Given the description of an element on the screen output the (x, y) to click on. 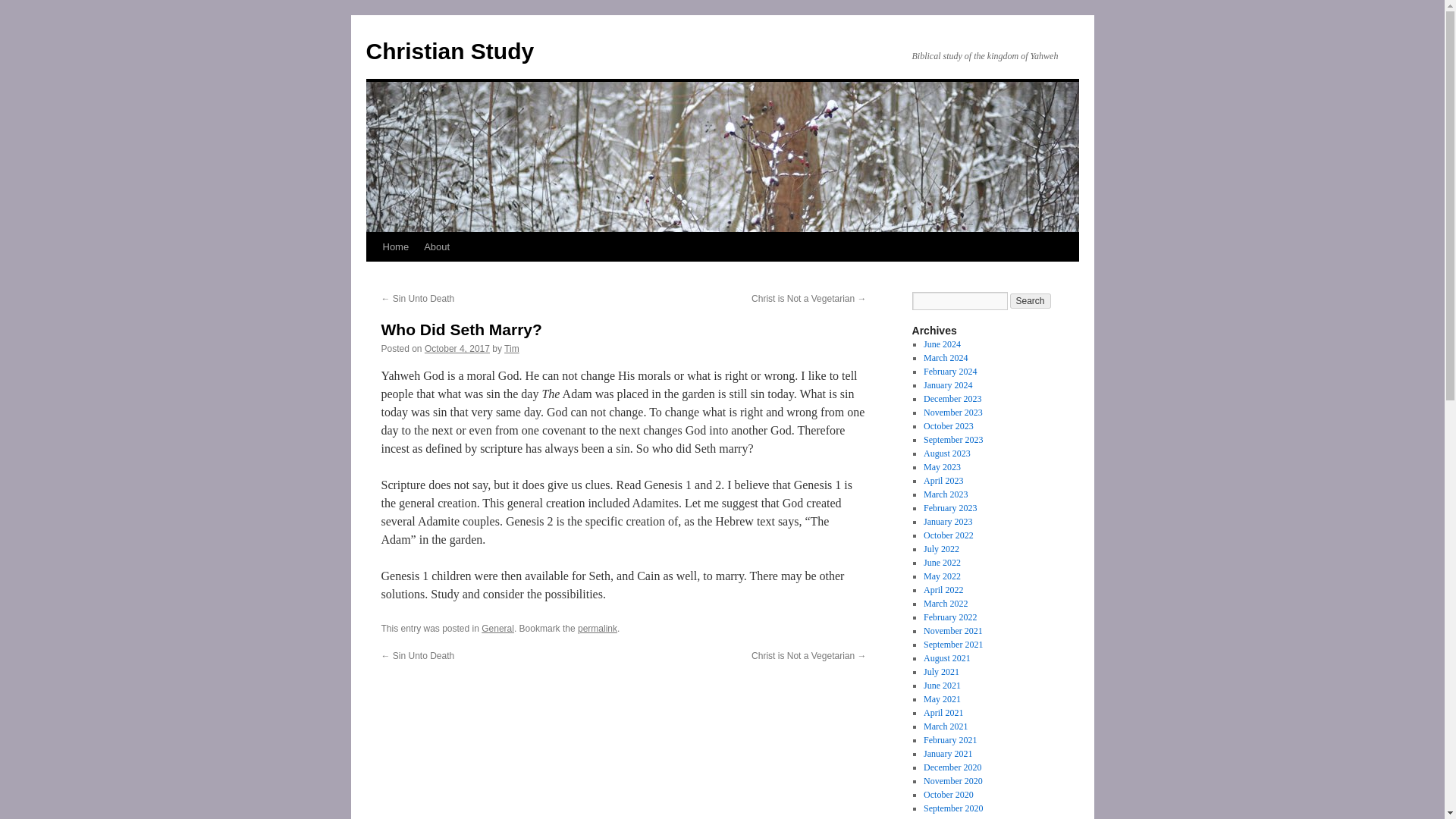
permalink (597, 628)
July 2022 (941, 548)
March 2022 (945, 603)
1:03 pm (457, 348)
Tim (511, 348)
Search (1030, 300)
June 2022 (941, 562)
September 2023 (952, 439)
May 2021 (941, 698)
July 2021 (941, 671)
